Given the description of an element on the screen output the (x, y) to click on. 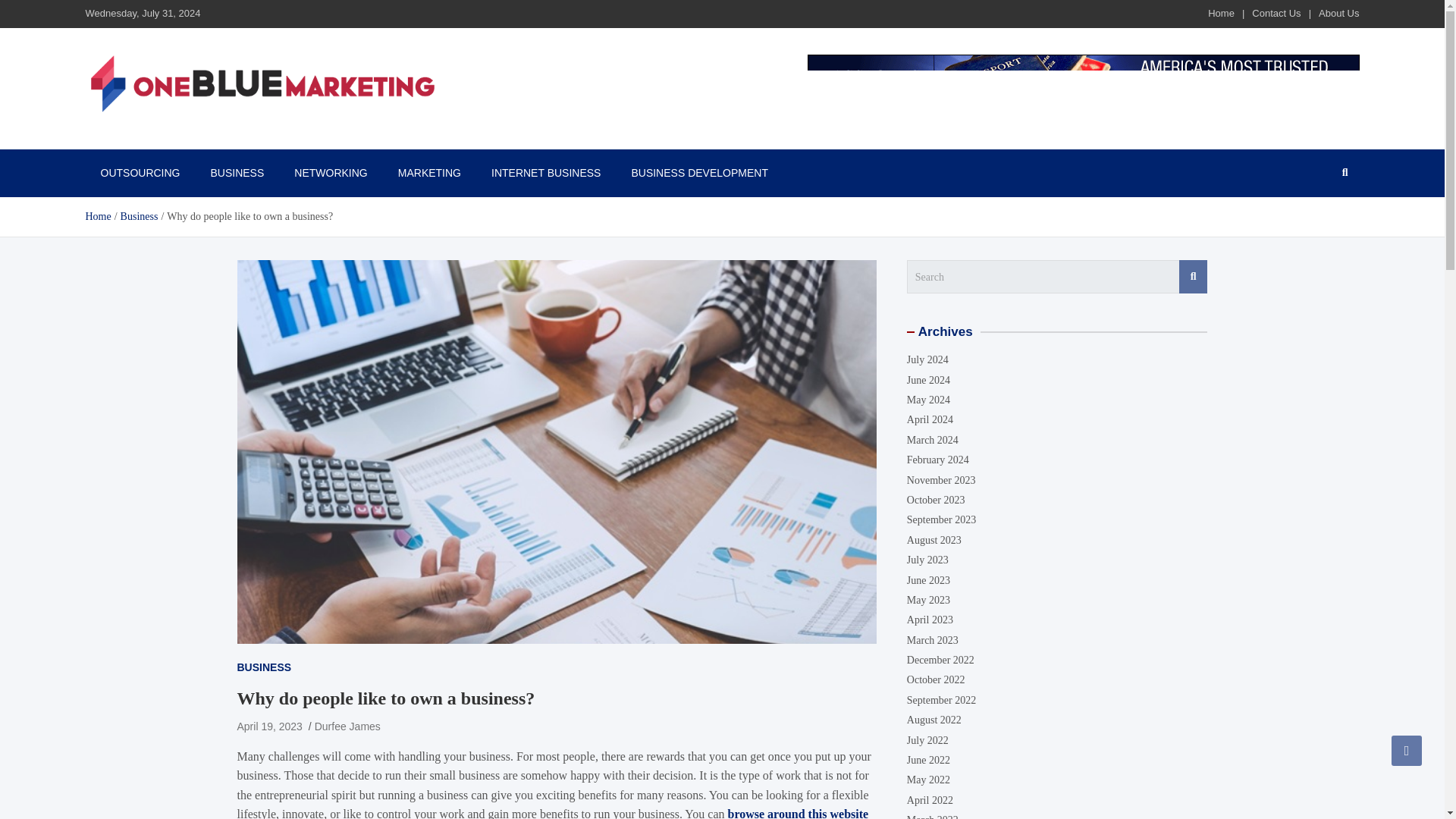
June 2023 (928, 580)
About Us (1338, 12)
March 2023 (932, 640)
May 2023 (928, 600)
August 2023 (933, 540)
Contact Us (1276, 12)
November 2023 (941, 480)
One Blue Marketing (191, 141)
browse around this website (798, 813)
October 2023 (936, 500)
May 2024 (928, 399)
June 2024 (928, 379)
NETWORKING (330, 172)
Home (1221, 12)
Why do people like to own a business? (268, 727)
